Given the description of an element on the screen output the (x, y) to click on. 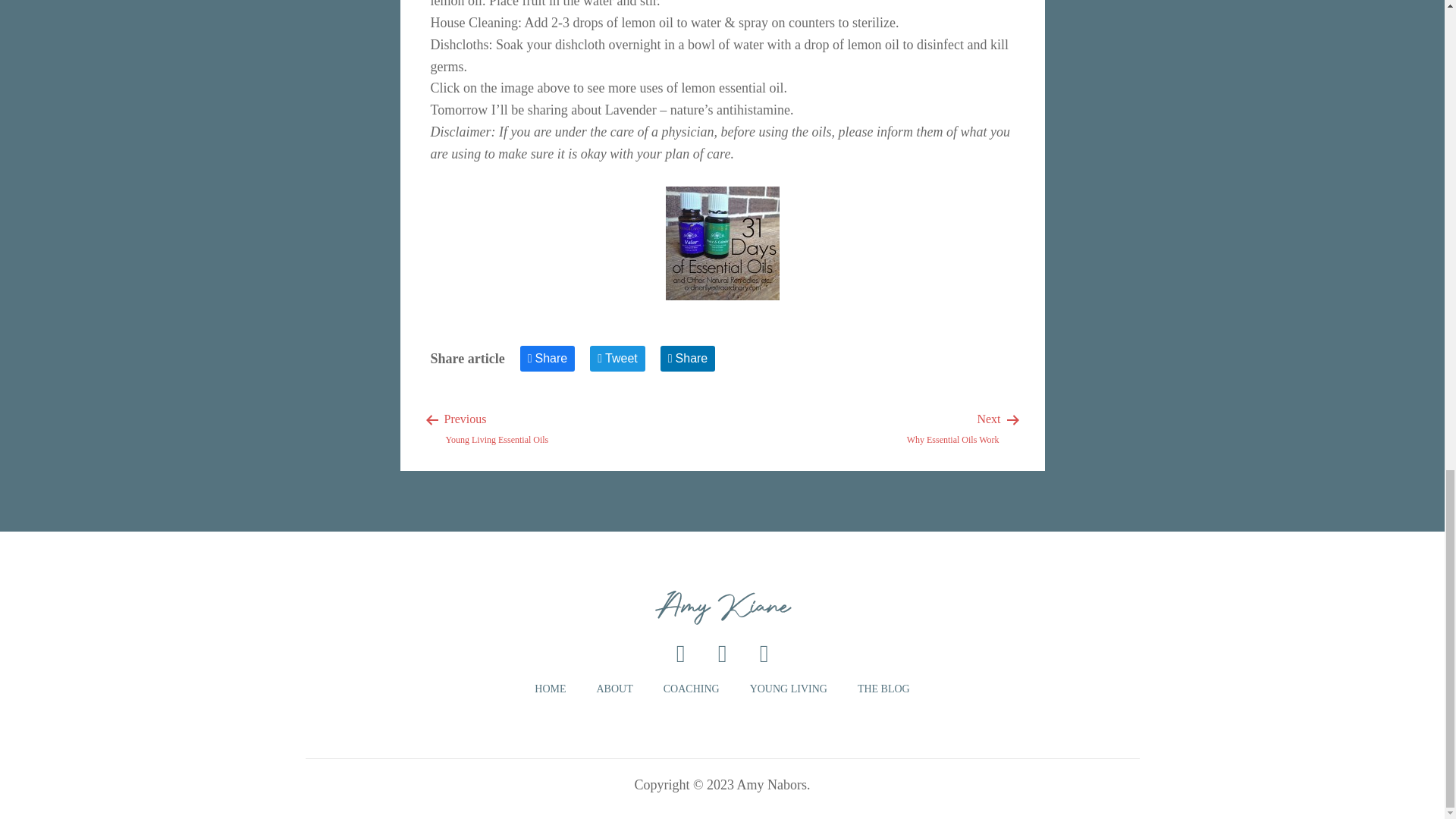
ABOUT (613, 688)
Share (688, 358)
YOUNG LIVING (788, 688)
Share (547, 358)
HOME (952, 428)
COACHING (550, 688)
THE BLOG (497, 428)
Tweet (691, 688)
